Given the description of an element on the screen output the (x, y) to click on. 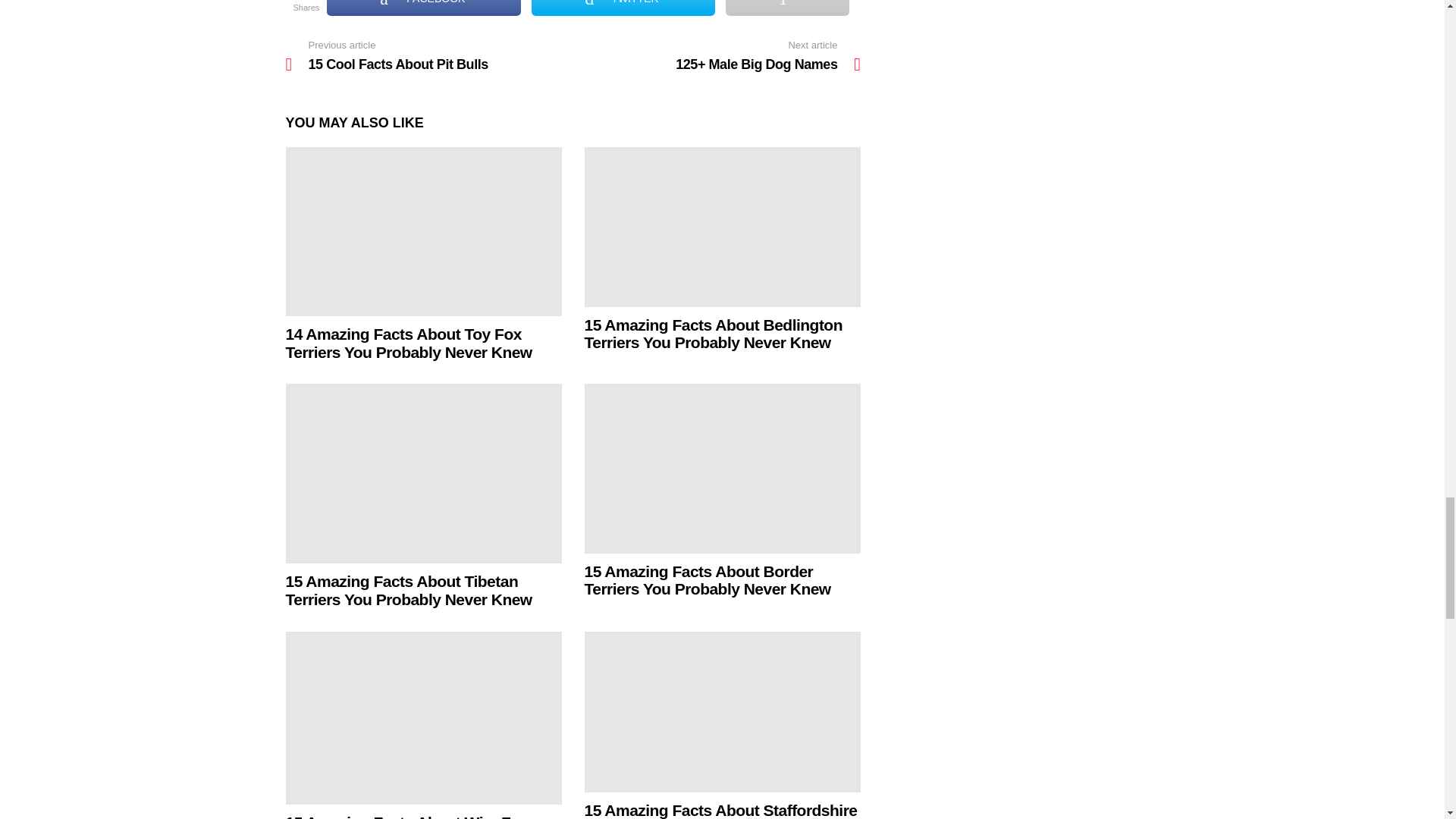
Share on Facebook (423, 7)
Share on More Button (787, 7)
Share on Twitter (622, 7)
